Given the description of an element on the screen output the (x, y) to click on. 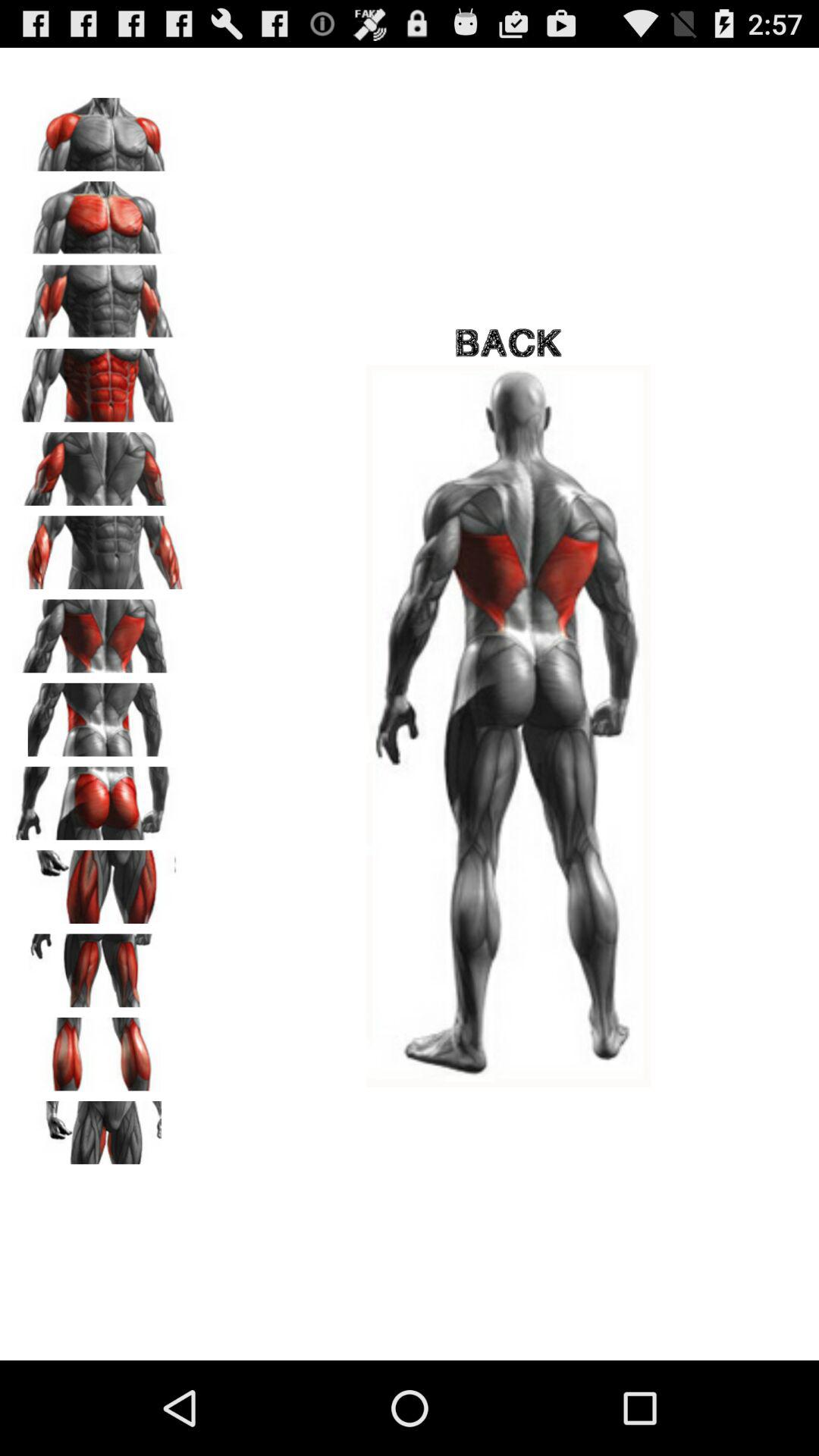
work on calfs (99, 1048)
